Given the description of an element on the screen output the (x, y) to click on. 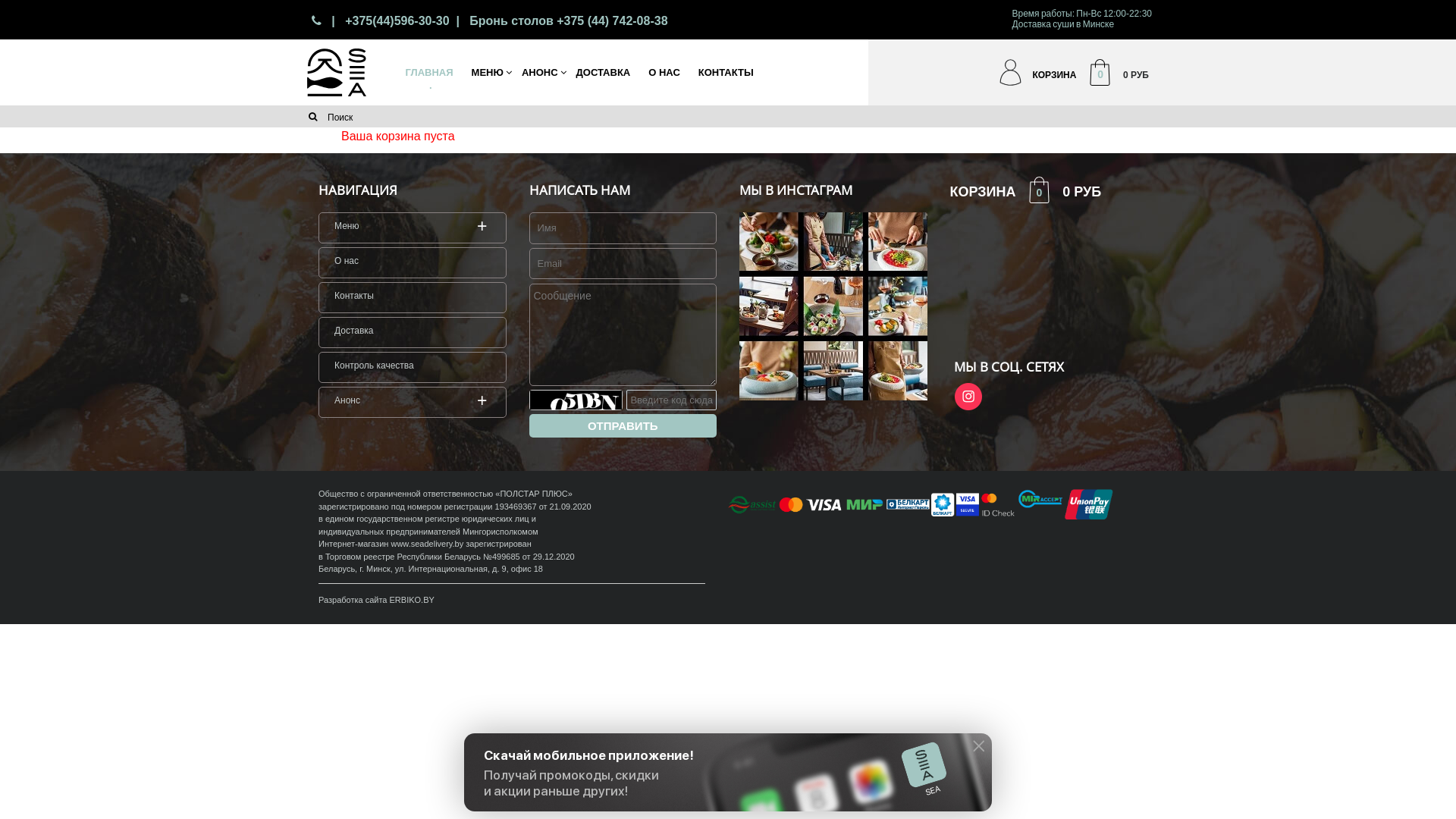
  |  Element type: text (331, 20)
+375(44)596-30-30  |  Element type: text (403, 20)
www.seadelivery.by Element type: text (426, 543)
